Given the description of an element on the screen output the (x, y) to click on. 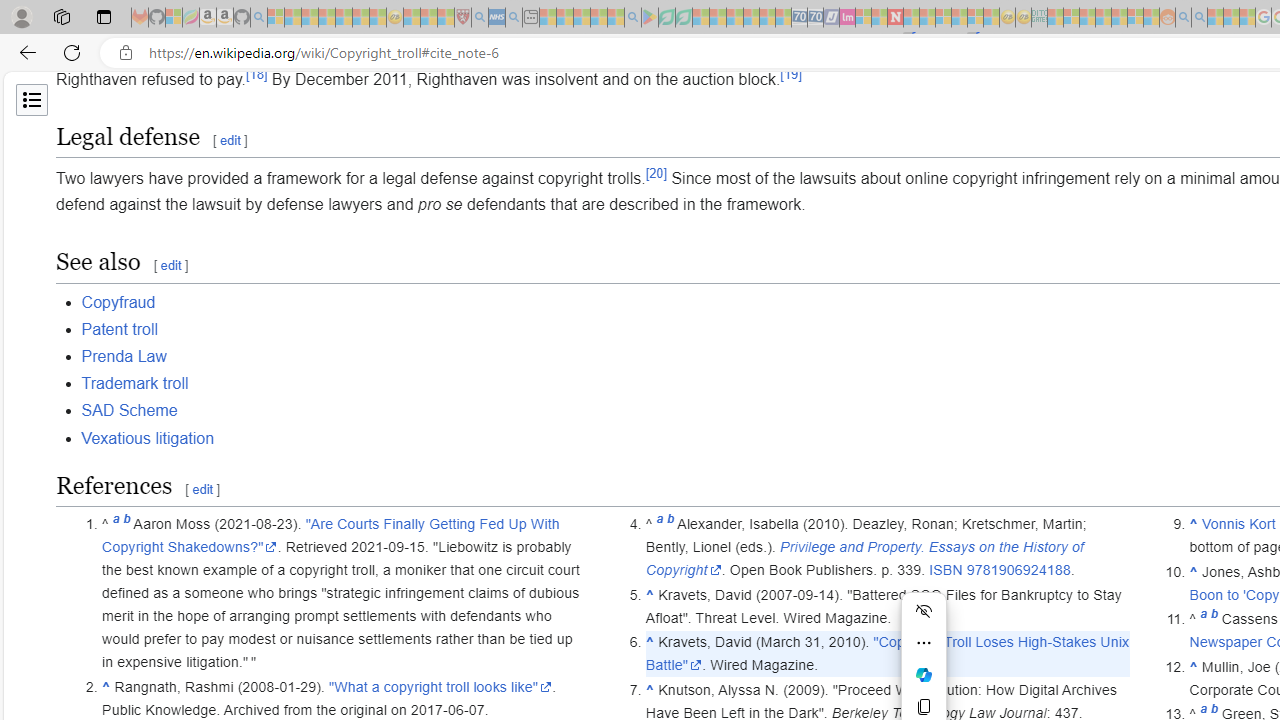
Prenda Law (123, 356)
Cheap Hotels - Save70.com - Sleeping (815, 17)
Vexatious litigation (147, 438)
Terms of Use Agreement - Sleeping (666, 17)
[18] (256, 74)
Privilege and Property. Essays on the History of Copyright (864, 558)
Bluey: Let's Play! - Apps on Google Play - Sleeping (649, 17)
google - Search - Sleeping (632, 17)
